Given the description of an element on the screen output the (x, y) to click on. 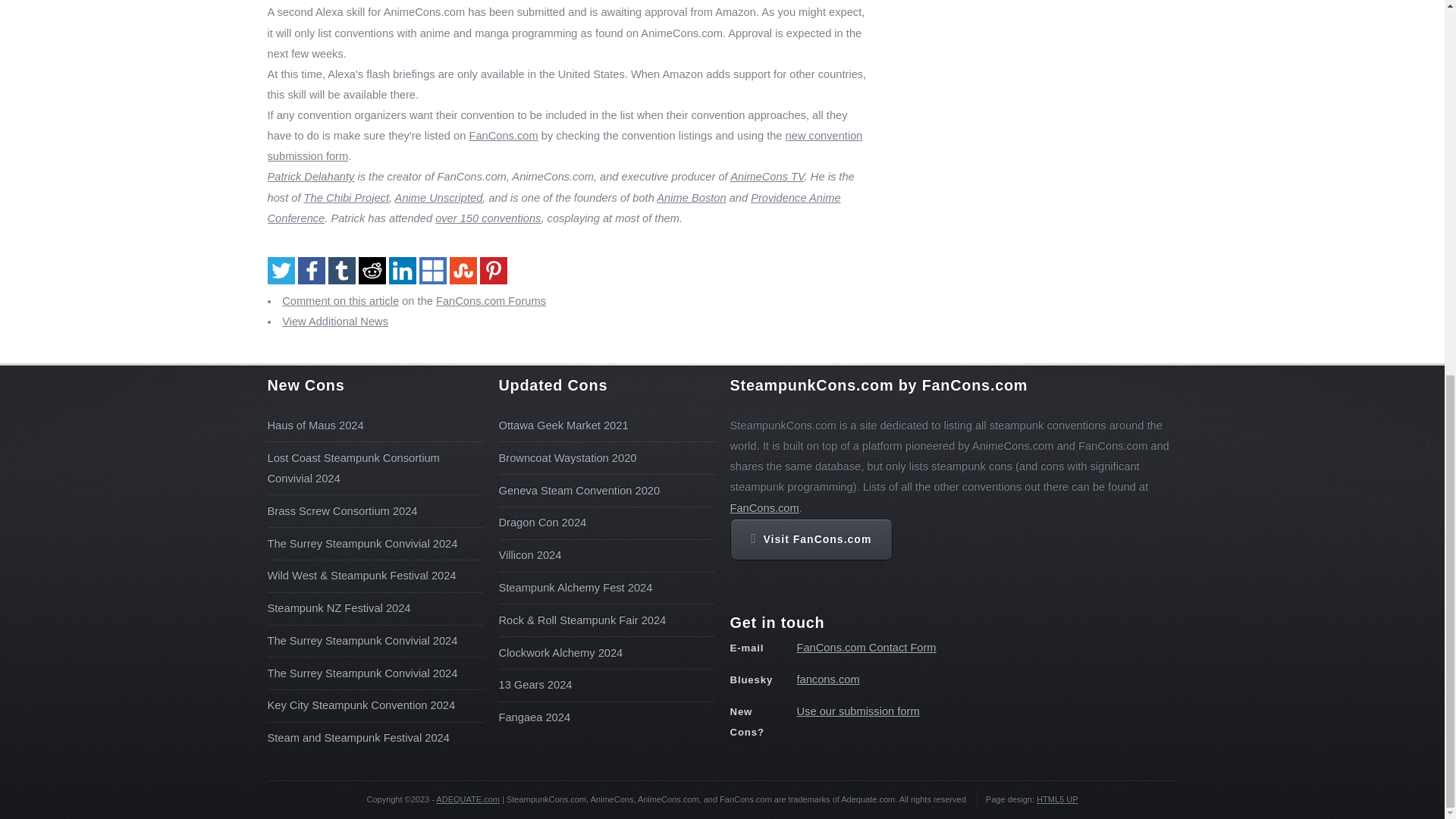
View Additional News (335, 321)
The Chibi Project (346, 197)
FanCons.com (502, 135)
Patrick Delahanty (309, 176)
Providence Anime Conference (553, 207)
Anime Unscripted (438, 197)
new convention submission form (563, 145)
FanCons.com Forums (490, 300)
Anime Boston (690, 197)
over 150 conventions (487, 218)
AnimeCons TV (766, 176)
Comment on this article (340, 300)
